Given the description of an element on the screen output the (x, y) to click on. 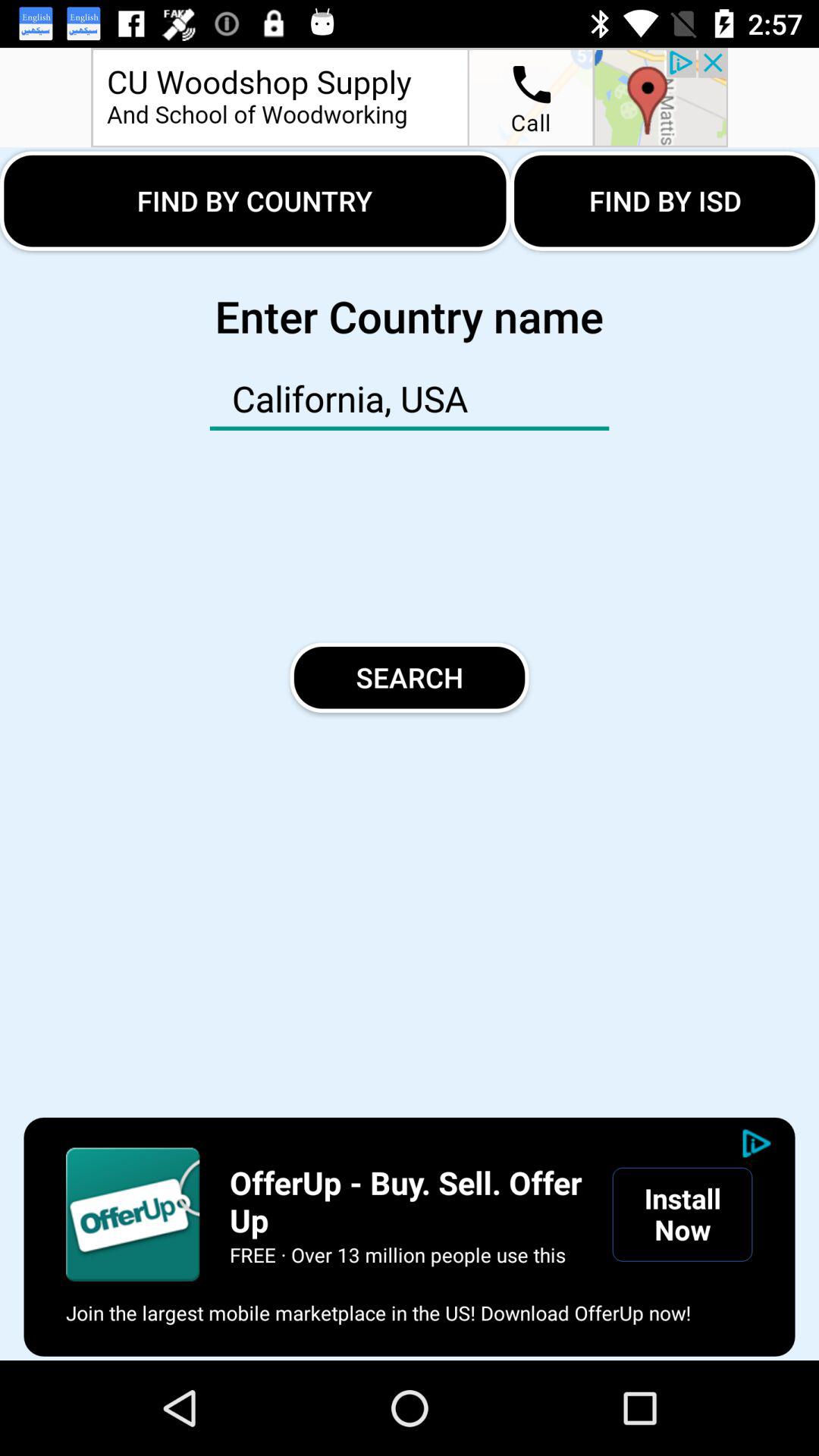
view the advertisement (409, 97)
